Given the description of an element on the screen output the (x, y) to click on. 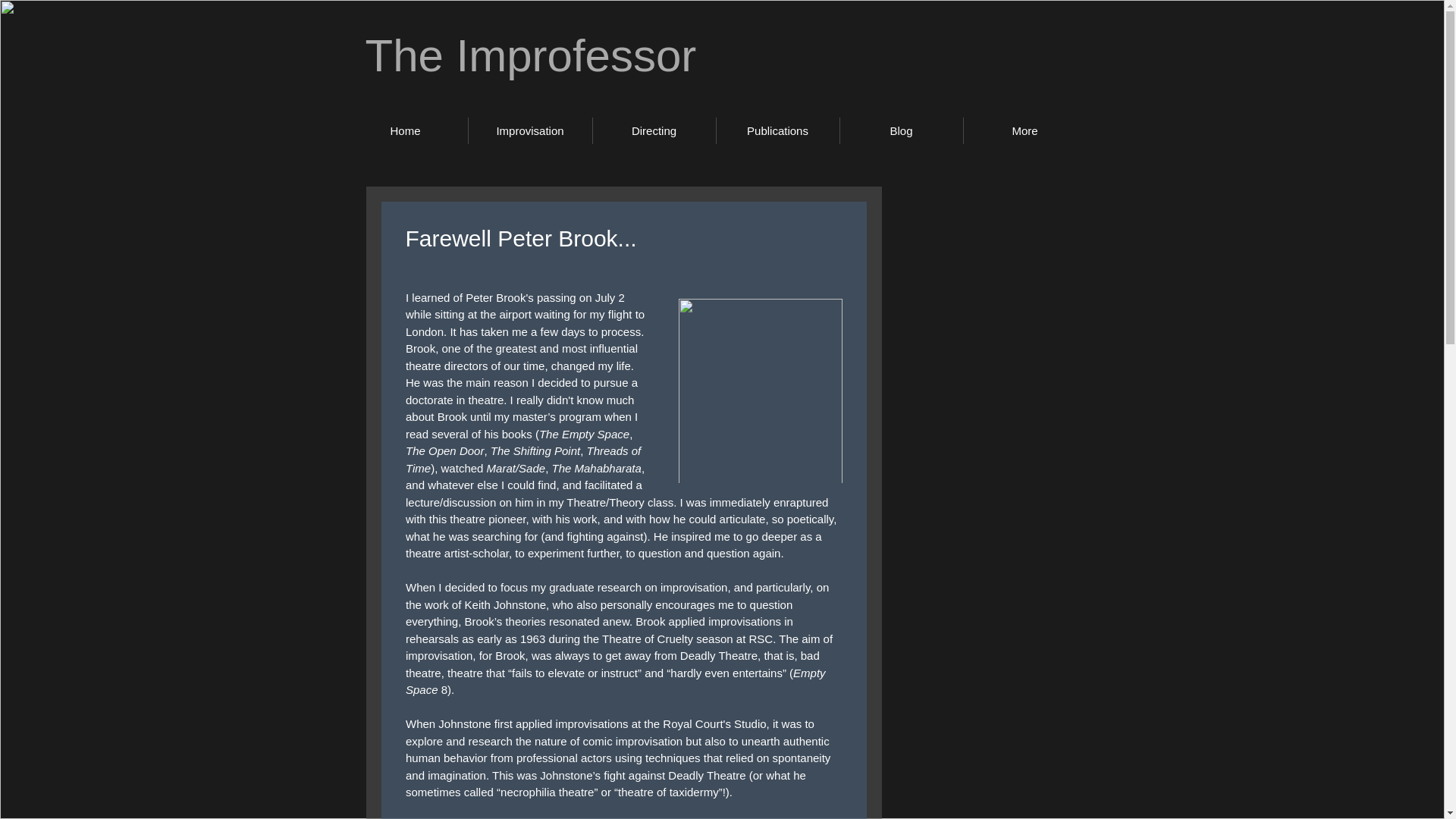
Publications (777, 130)
The Improfessor (531, 55)
Blog (901, 130)
Home (404, 130)
